Given the description of an element on the screen output the (x, y) to click on. 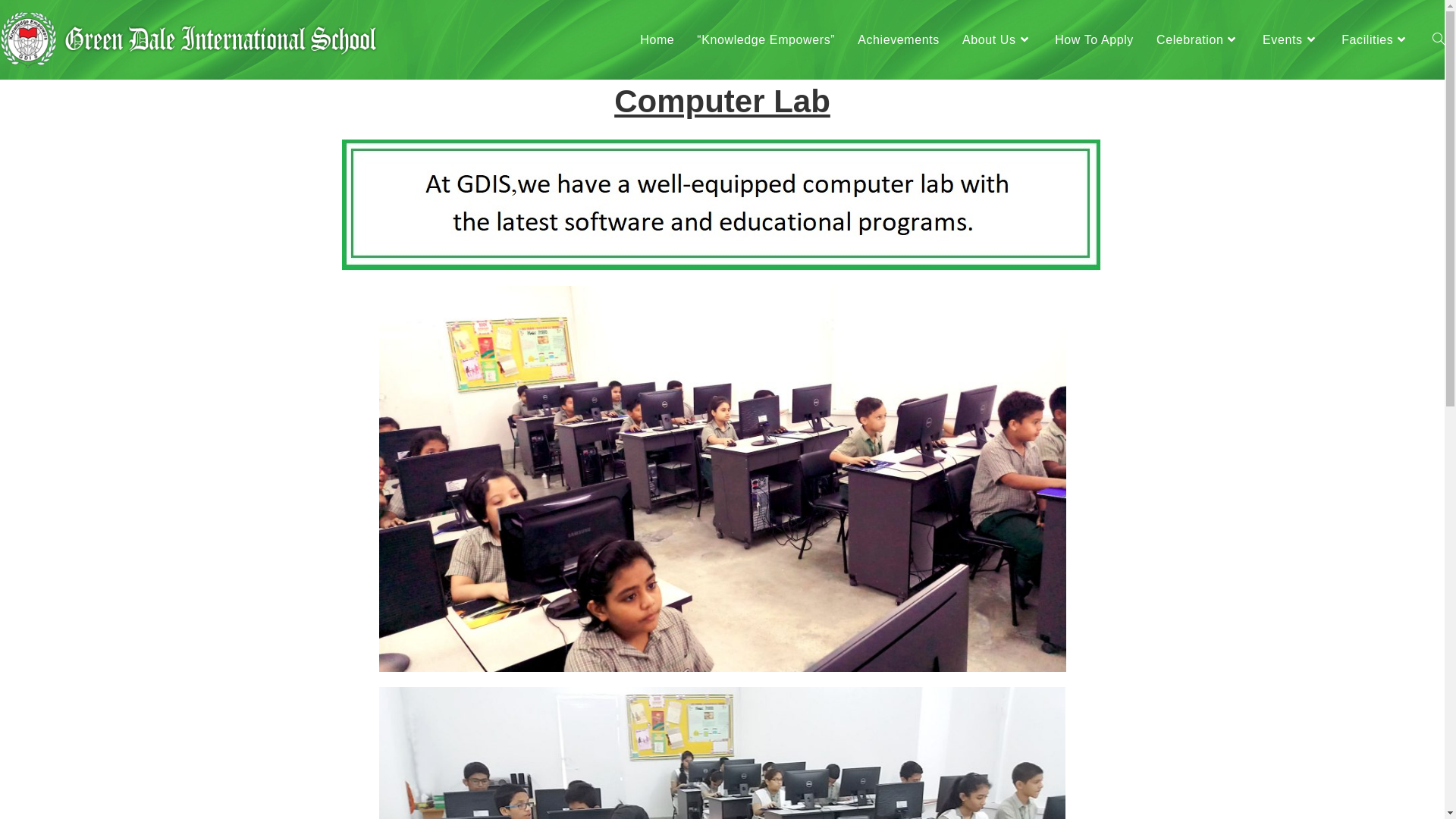
Facilities Element type: text (1375, 39)
Home Element type: text (656, 39)
How To Apply Element type: text (1094, 39)
Achievements Element type: text (898, 39)
Celebration Element type: text (1198, 39)
Events Element type: text (1290, 39)
About Us Element type: text (996, 39)
